Given the description of an element on the screen output the (x, y) to click on. 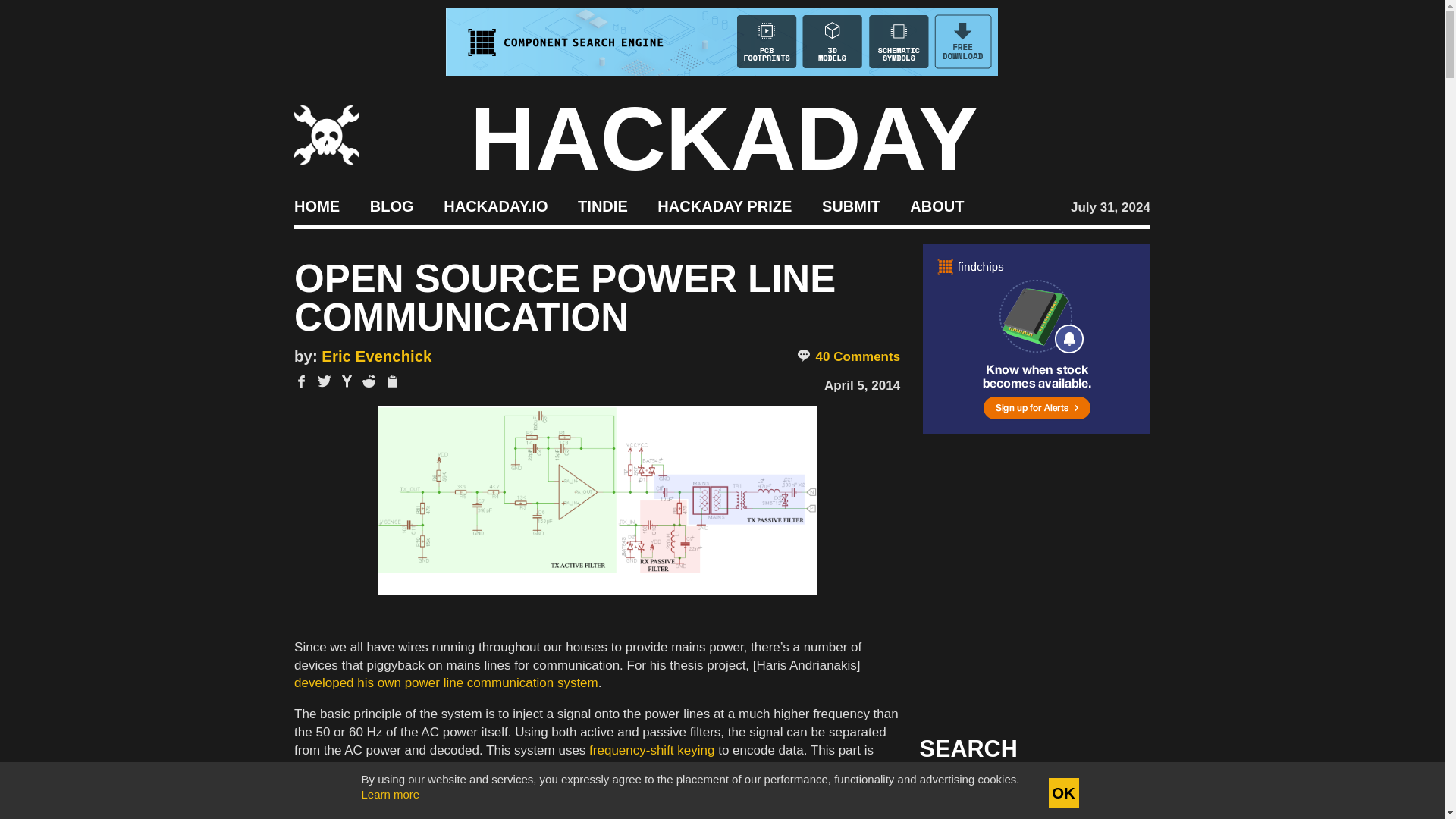
April 5, 2014 - 1:01 pm (861, 385)
HACKADAY PRIZE (725, 205)
Search (1115, 792)
ST7540 (377, 768)
Posts by Eric Evenchick (375, 356)
developed his own power line communication system (446, 682)
HACKADAY (724, 138)
BLOG (391, 205)
40 Comments (847, 356)
HACKADAY.IO (495, 205)
Search (1115, 792)
Share on Facebook (301, 381)
April 5, 2014 (861, 385)
Share on Reddit (369, 381)
SUBMIT (851, 205)
